Given the description of an element on the screen output the (x, y) to click on. 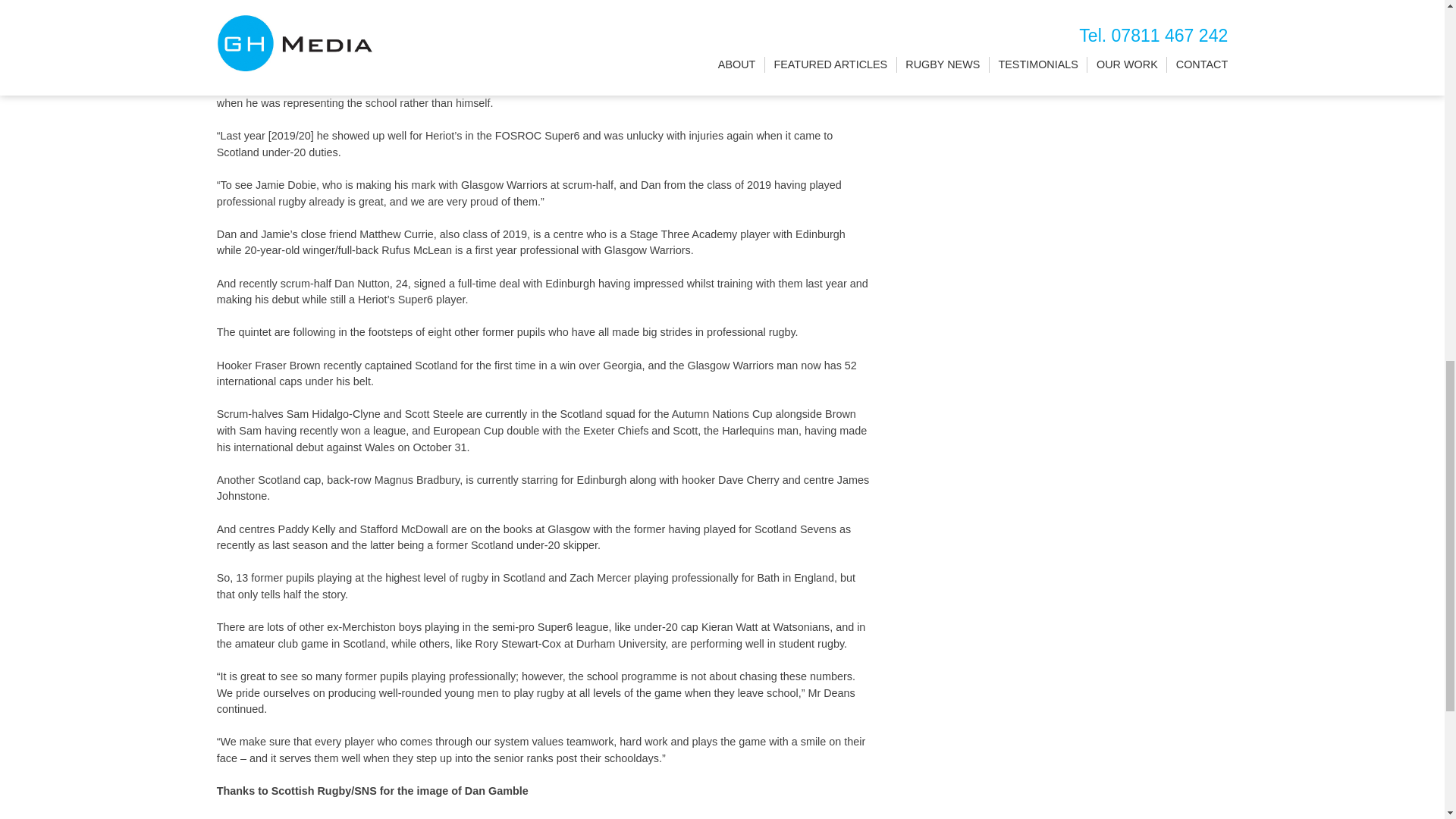
Merchiston Castle (475, 818)
Rugby News (295, 818)
Dan Gamble (397, 818)
rugby (540, 818)
